Given the description of an element on the screen output the (x, y) to click on. 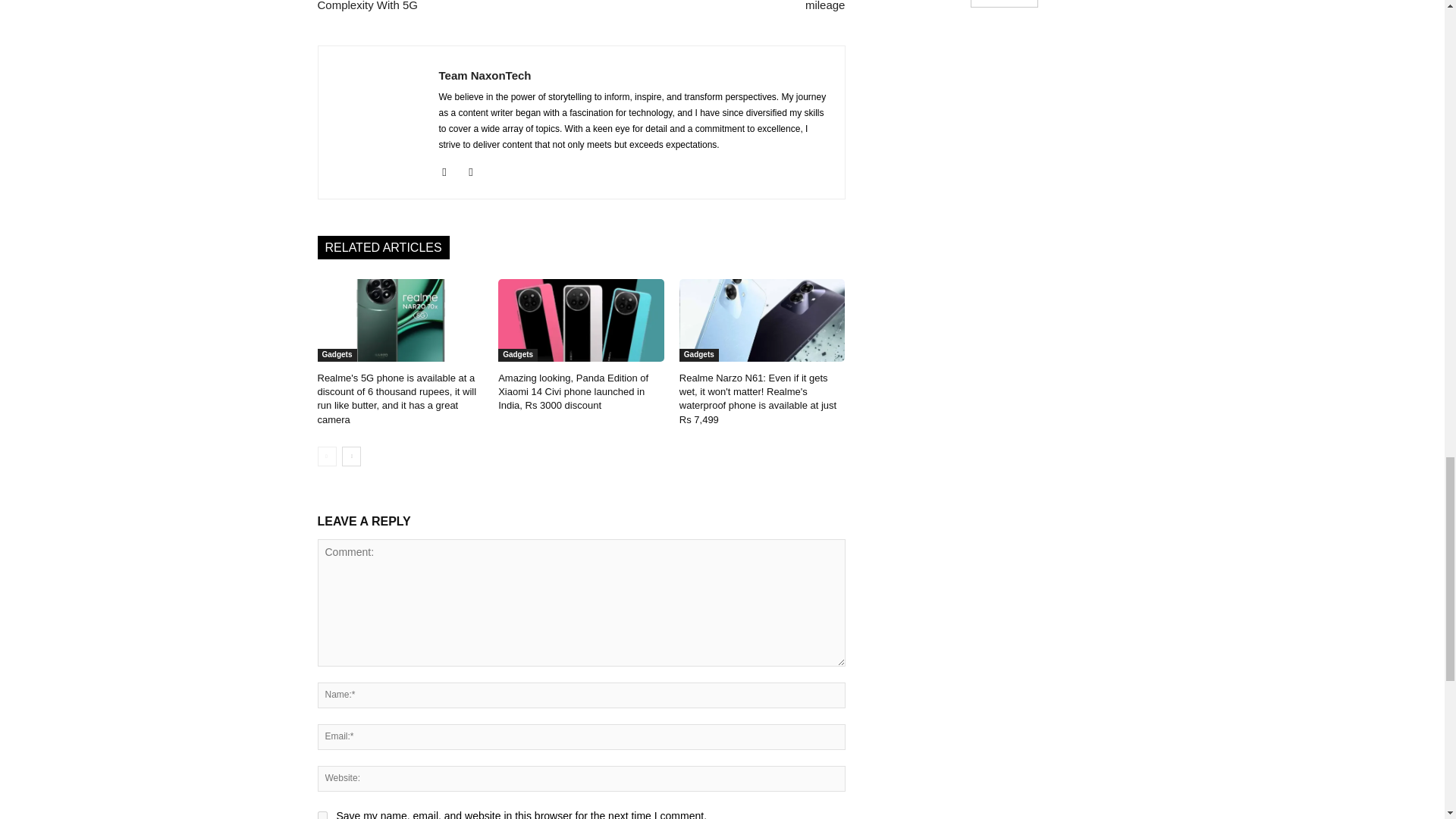
yes (321, 815)
